Given the description of an element on the screen output the (x, y) to click on. 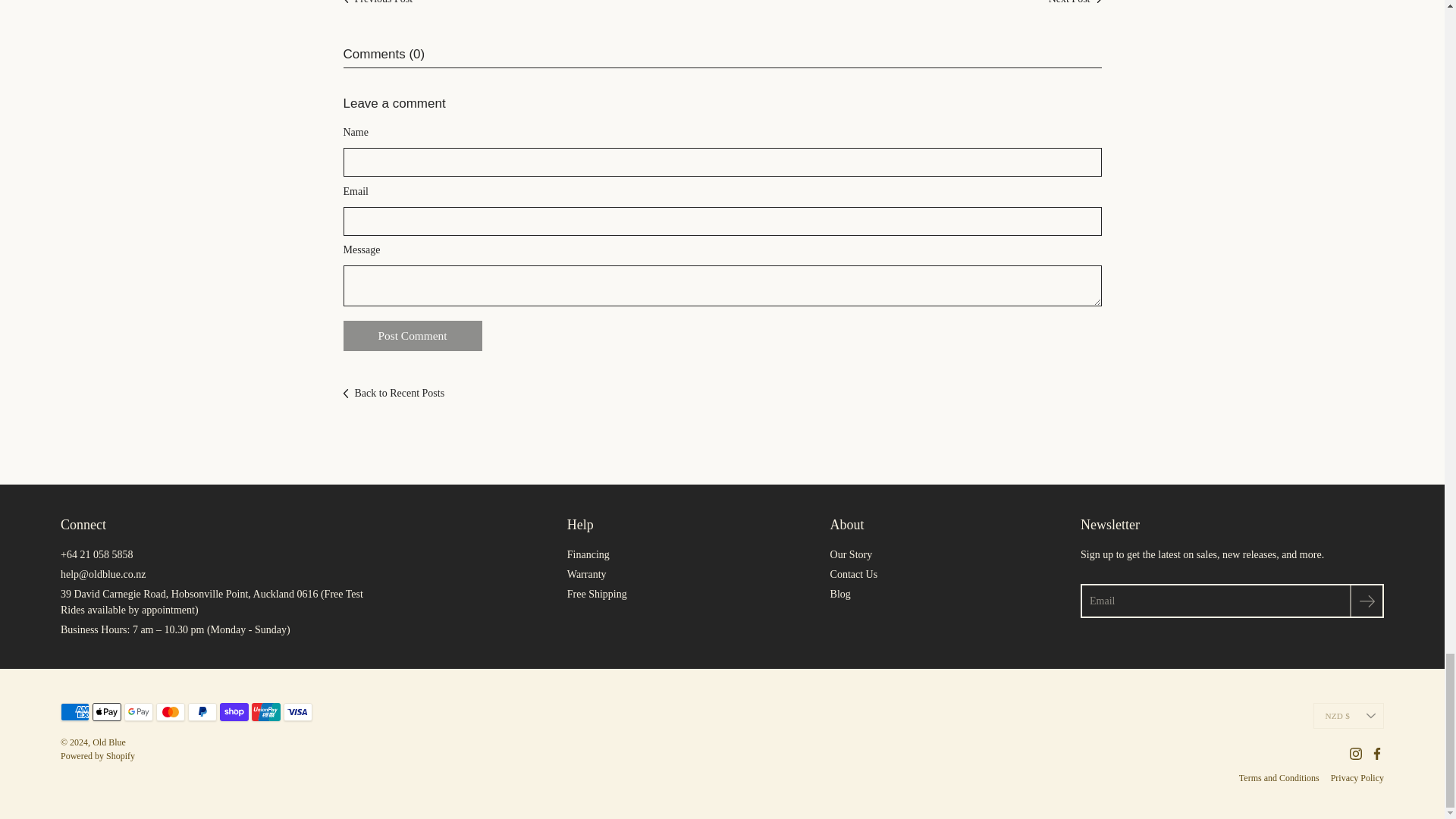
Google Pay (137, 711)
Apple Pay (106, 711)
American Express (74, 711)
Post Comment (411, 336)
